Given the description of an element on the screen output the (x, y) to click on. 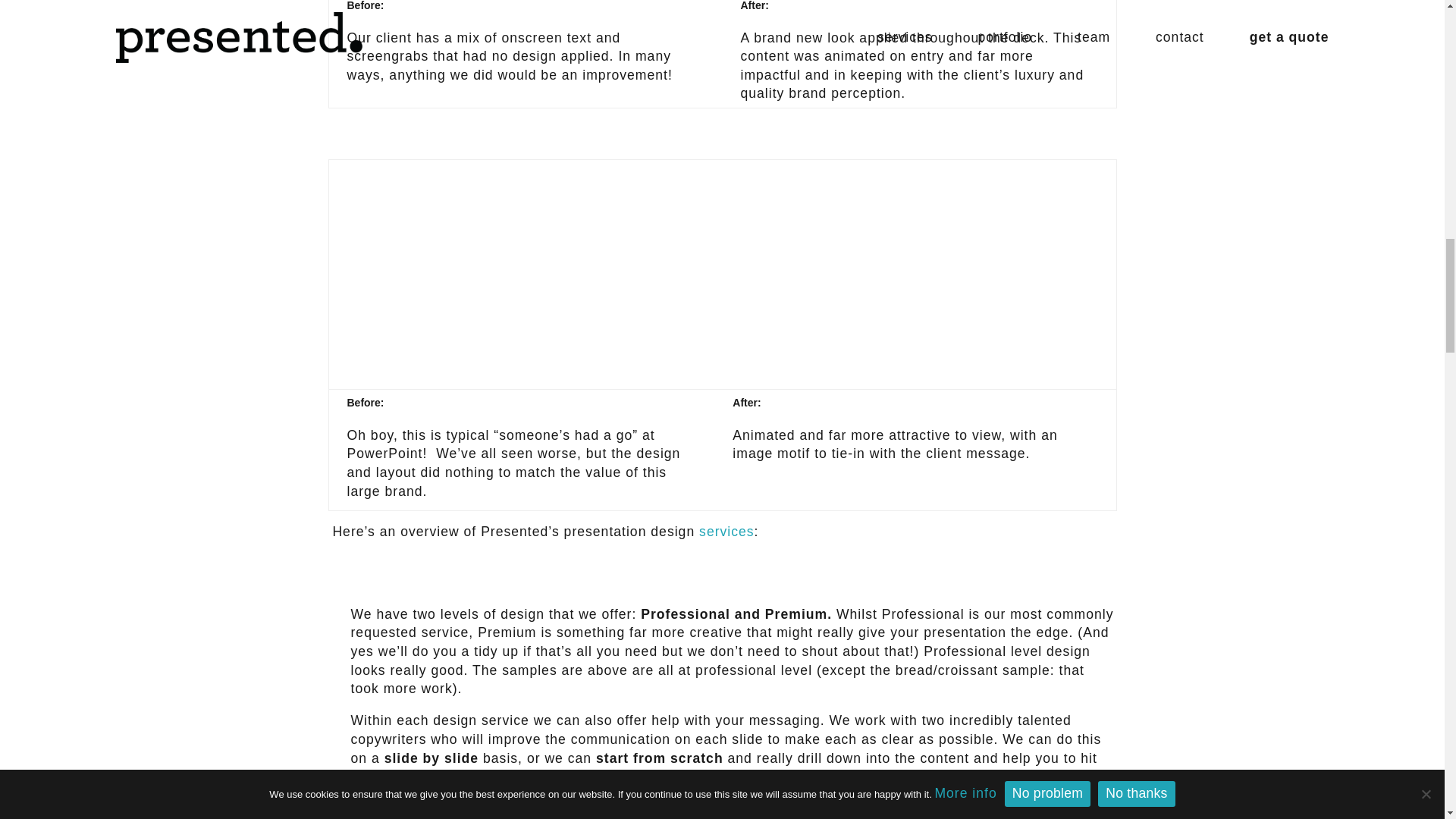
Presented is a recommended PowerPoint design company 7 (522, 271)
services (726, 531)
Presented is a recommended PowerPoint design company 8 (914, 271)
